Given the description of an element on the screen output the (x, y) to click on. 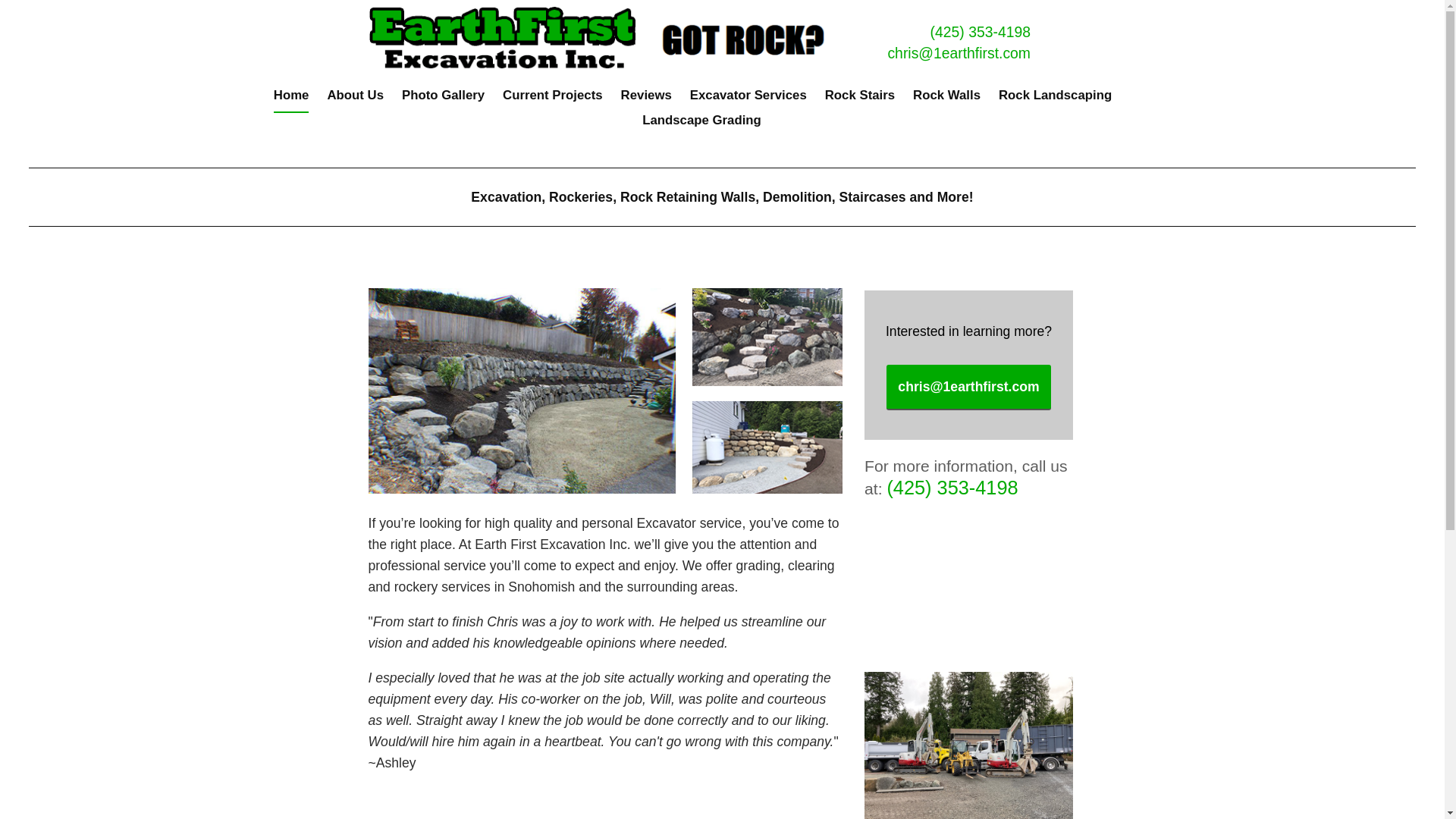
Current Projects Element type: text (552, 99)
About Us Element type: text (354, 99)
Rock Stairs Element type: text (859, 99)
(425) 353-4198 Element type: text (980, 31)
(425) 353-4198 Element type: text (951, 487)
Rock Walls Element type: text (946, 99)
Rock Landscaping Element type: text (1054, 99)
Landscape Grading Element type: text (701, 124)
Demo edited Element type: hover (968, 585)
chris@1earthfirst.com Element type: text (968, 387)
Excavator Services Element type: text (748, 99)
Photo Gallery Element type: text (442, 99)
Reviews Element type: text (646, 99)
chris@1earthfirst.com Element type: text (958, 52)
Home Element type: text (291, 99)
